Given the description of an element on the screen output the (x, y) to click on. 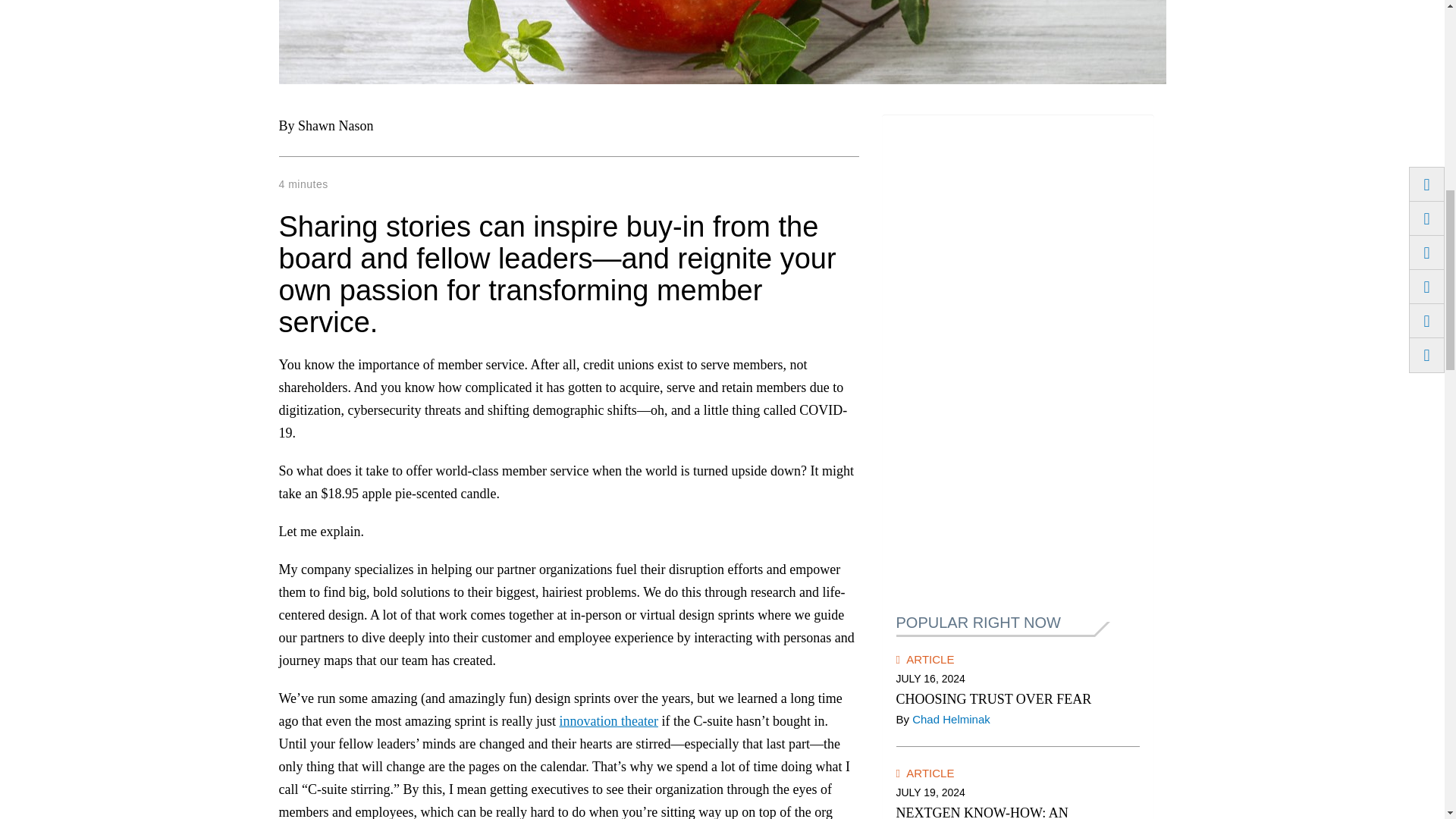
3rd party ad content (1017, 355)
